Given the description of an element on the screen output the (x, y) to click on. 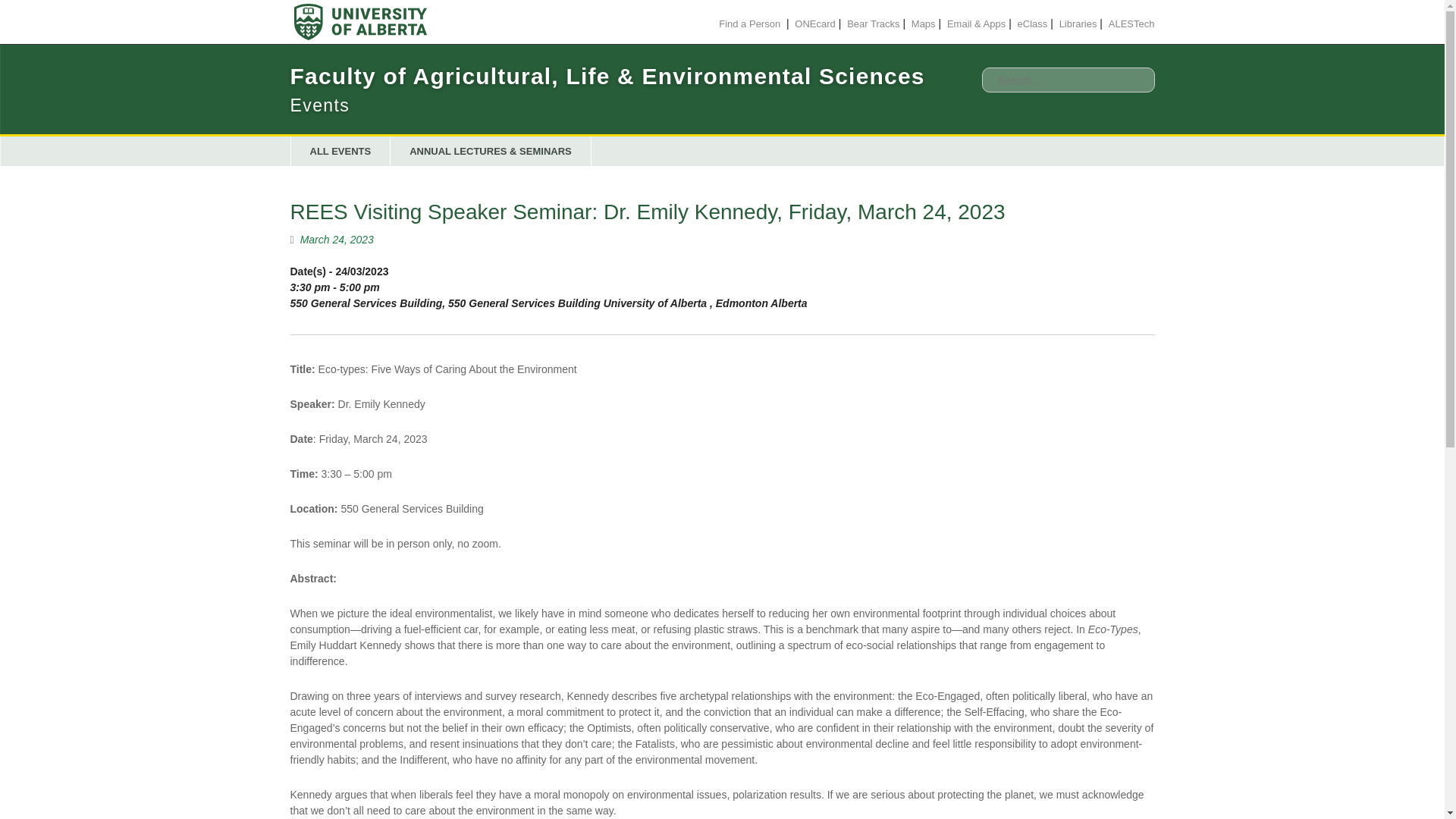
Maps (923, 23)
Search for: (1067, 79)
ONEcard (814, 23)
ALL EVENTS (339, 151)
Bear Tracks (873, 23)
ALESTech (1131, 23)
Search (30, 16)
Libraries (1078, 23)
Find a Person (749, 23)
eClass (1032, 23)
